Given the description of an element on the screen output the (x, y) to click on. 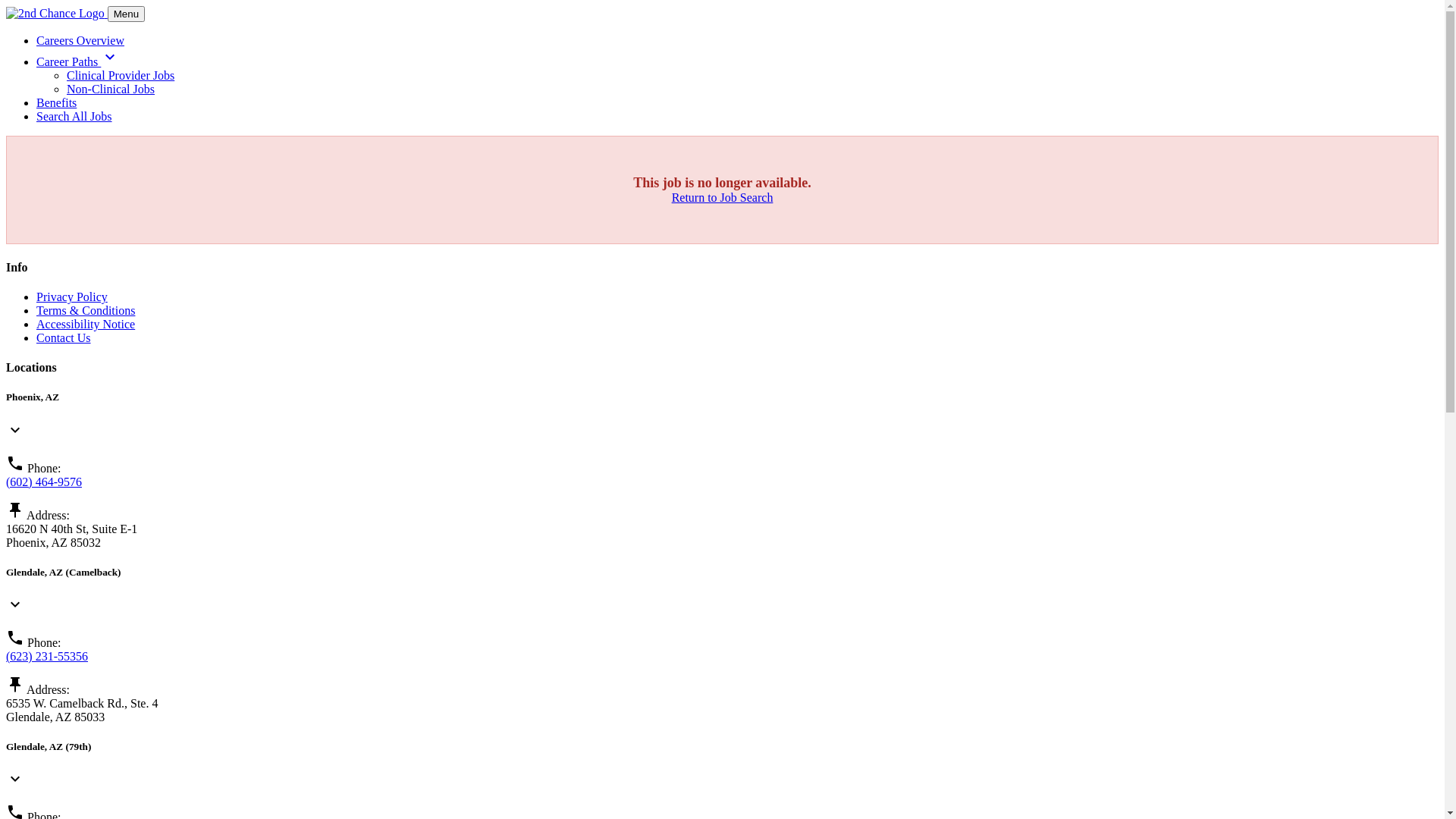
Careers Overview Element type: text (80, 40)
Benefits Element type: text (56, 102)
Accessibility Notice Element type: text (85, 323)
Privacy Policy Element type: text (71, 296)
Non-Clinical Jobs Element type: text (110, 88)
(623) 231-55356 Element type: text (46, 655)
Contact Us Element type: text (63, 337)
Return to Job Search Element type: text (722, 197)
Clinical Provider Jobs Element type: text (120, 75)
Search All Jobs Element type: text (74, 115)
Terms & Conditions Element type: text (85, 310)
Career Paths expand_more Element type: text (77, 61)
Menu Element type: text (125, 13)
(602) 464-9576 Element type: text (43, 481)
